Given the description of an element on the screen output the (x, y) to click on. 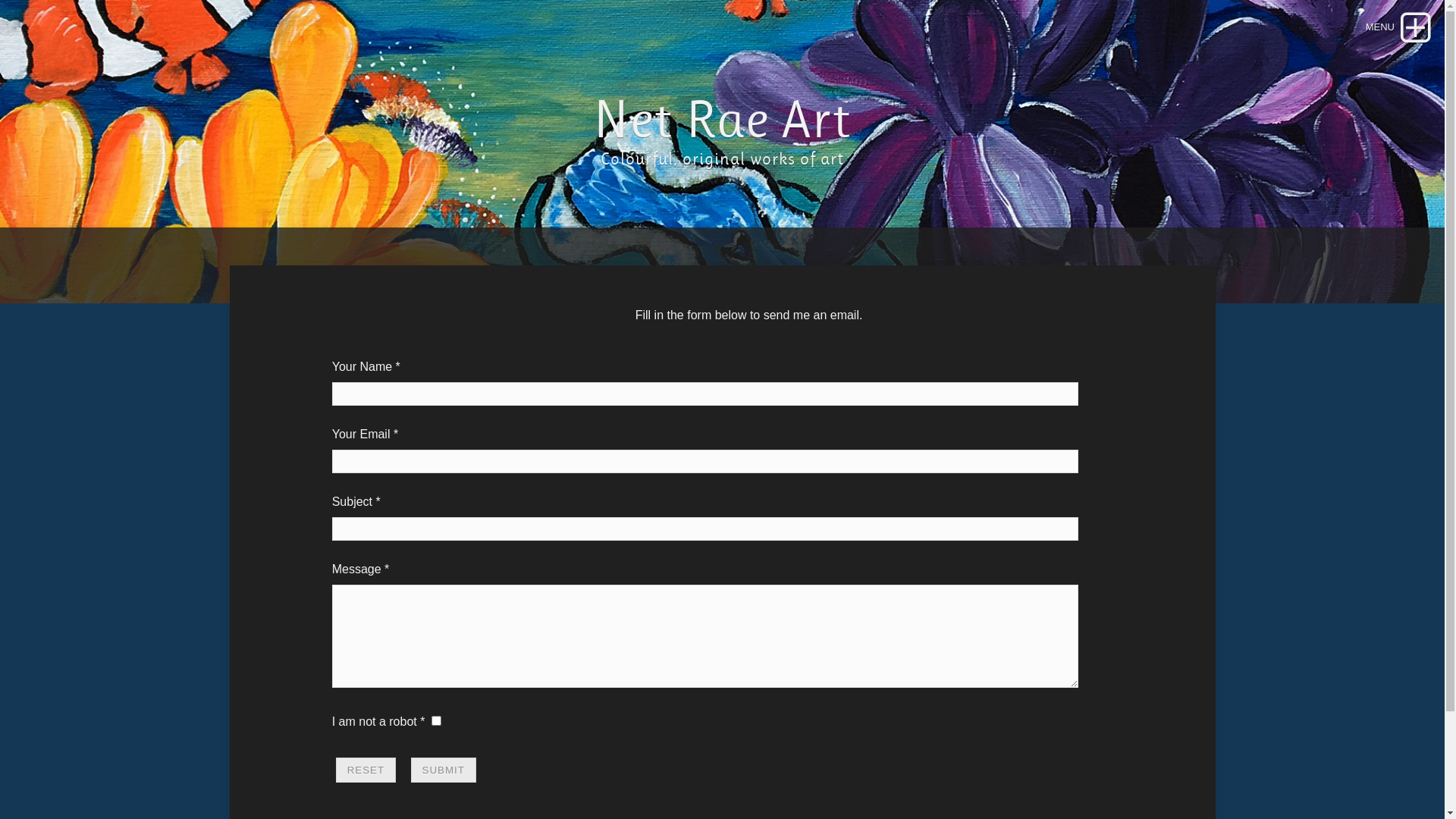
Submit Element type: text (443, 769)
